Given the description of an element on the screen output the (x, y) to click on. 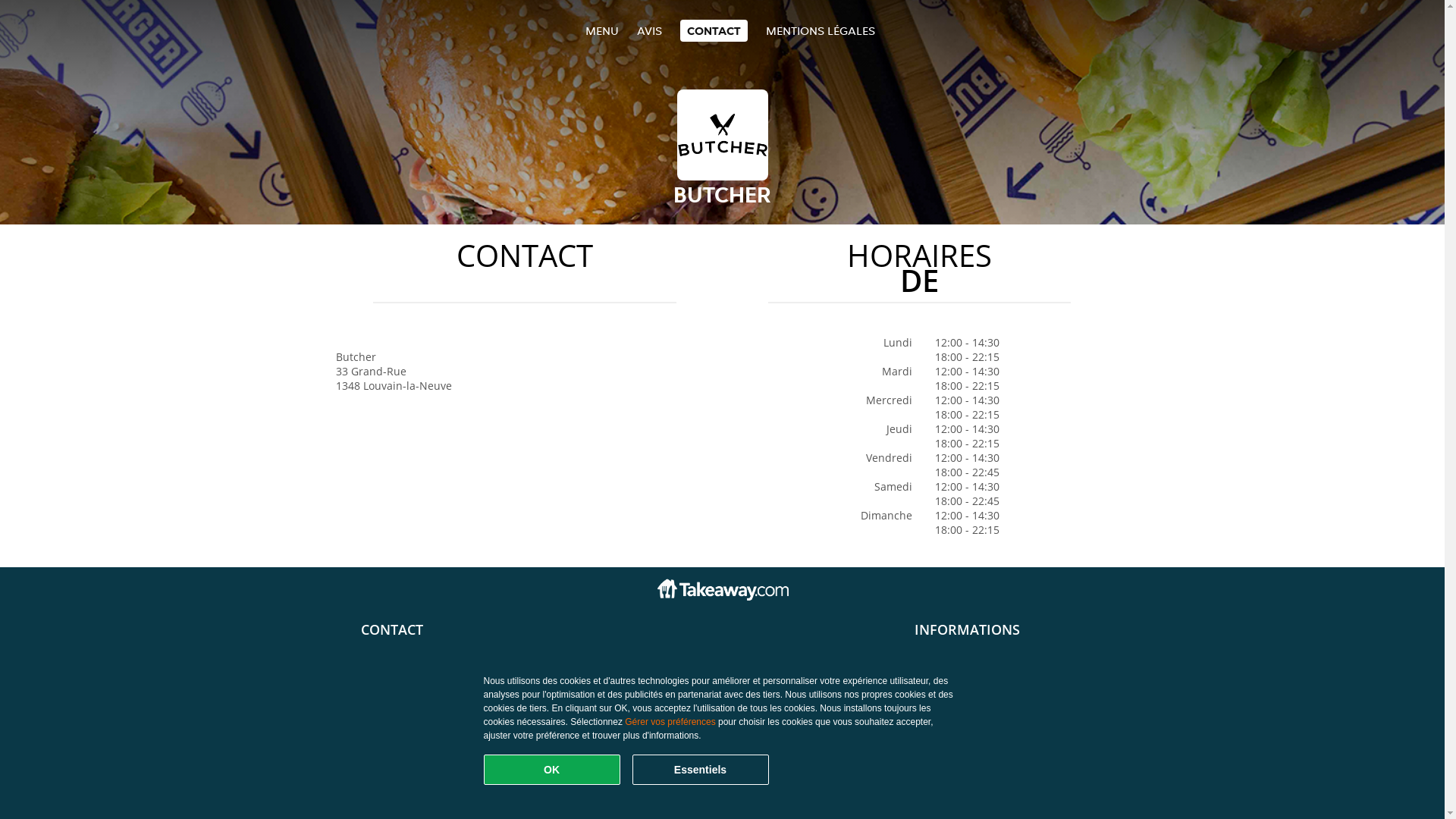
MENU Element type: text (601, 30)
Politique d'utilisation des cookies Element type: text (998, 674)
AVIS Element type: text (649, 30)
Conditions d'utilisation Element type: text (973, 645)
CONTACT Element type: text (712, 30)
OK Element type: text (551, 769)
Essentiels Element type: text (700, 769)
